Given the description of an element on the screen output the (x, y) to click on. 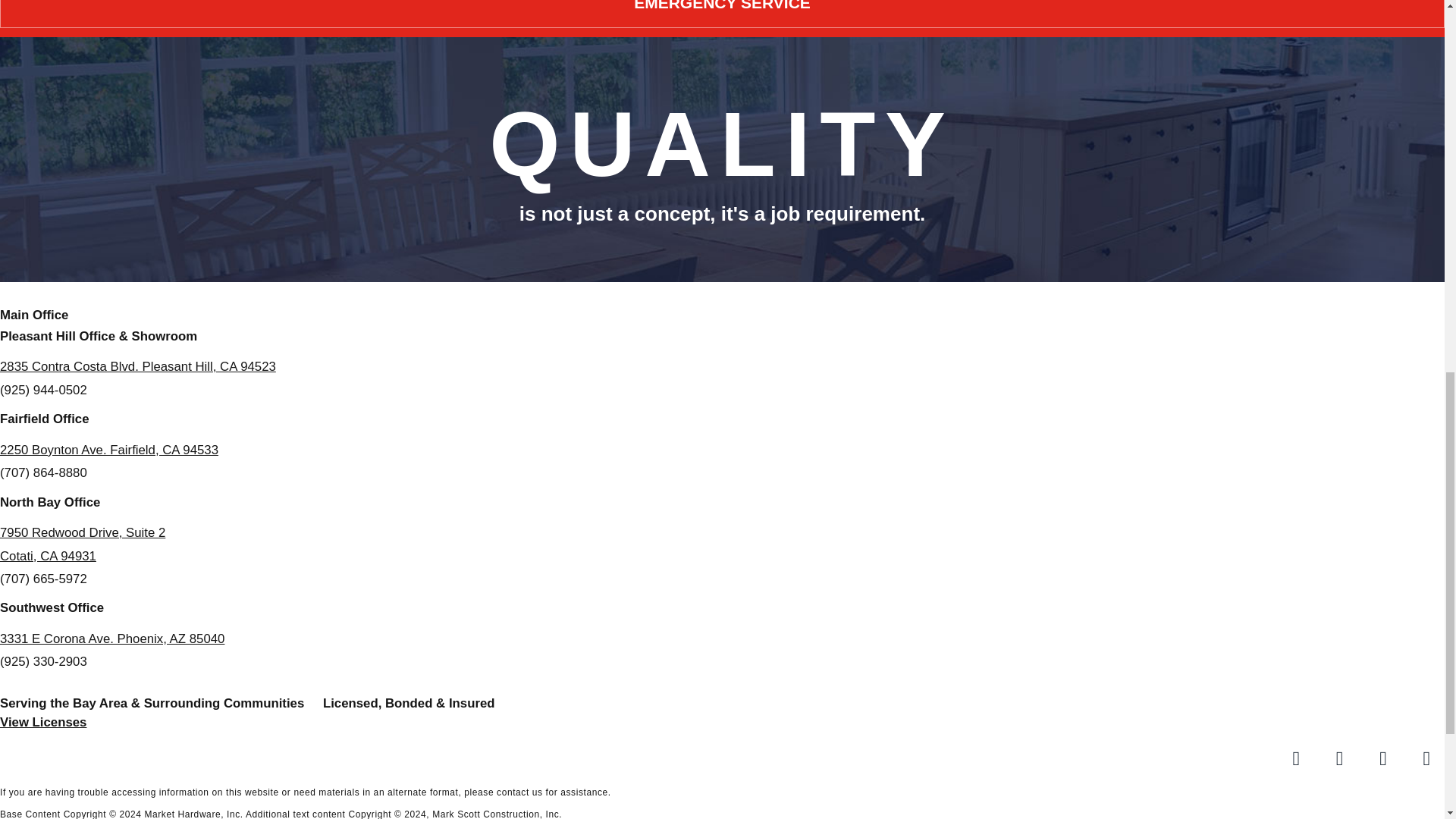
View Licenses (42, 721)
